Given the description of an element on the screen output the (x, y) to click on. 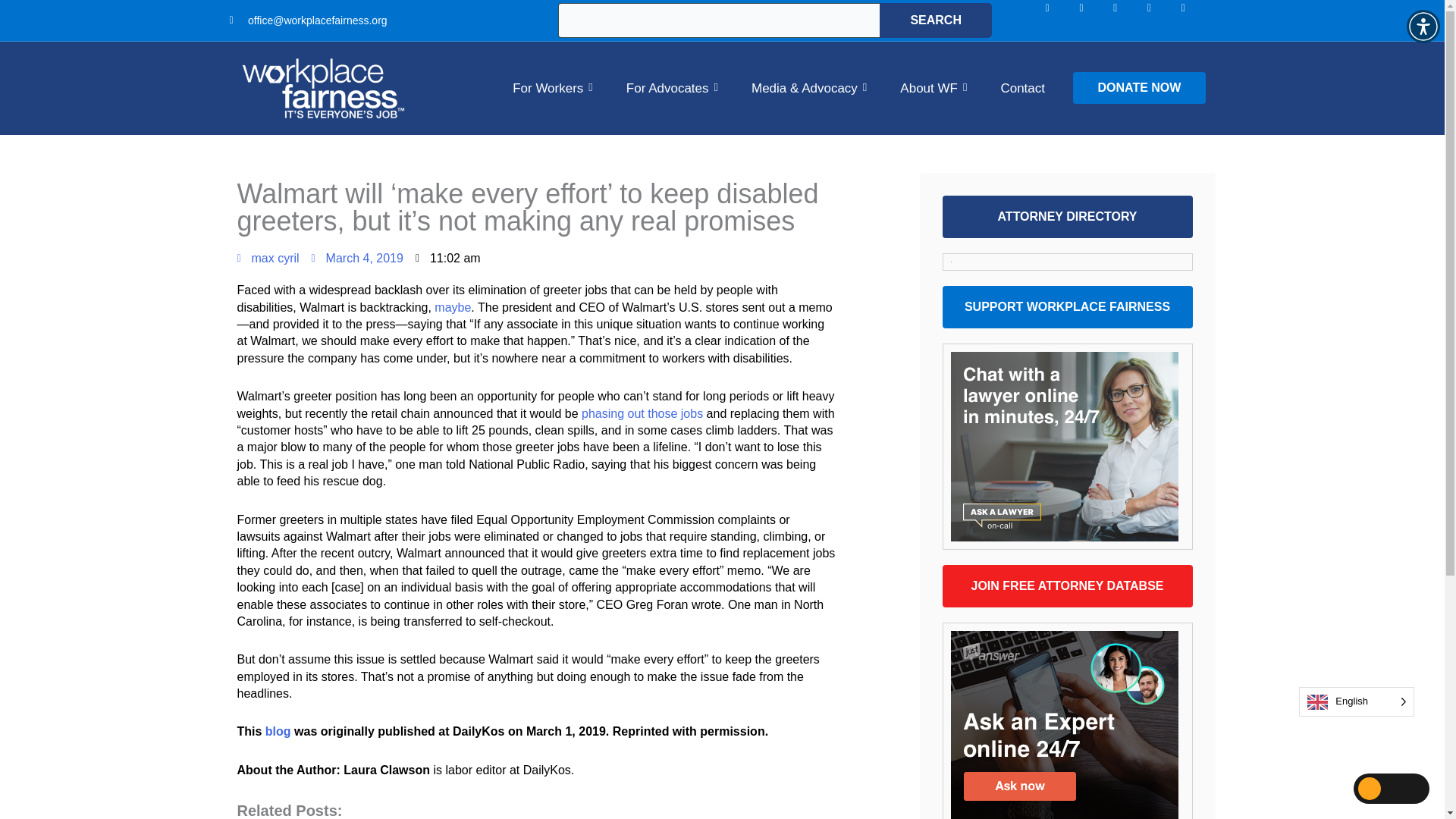
Instagram (1092, 19)
Search (935, 20)
Search (935, 20)
For Workers (552, 88)
Twitter (1160, 19)
Search (935, 20)
Youtube (1194, 19)
Linkedin (1126, 19)
Facebook-f (1058, 19)
Accessibility Menu (1422, 26)
